Given the description of an element on the screen output the (x, y) to click on. 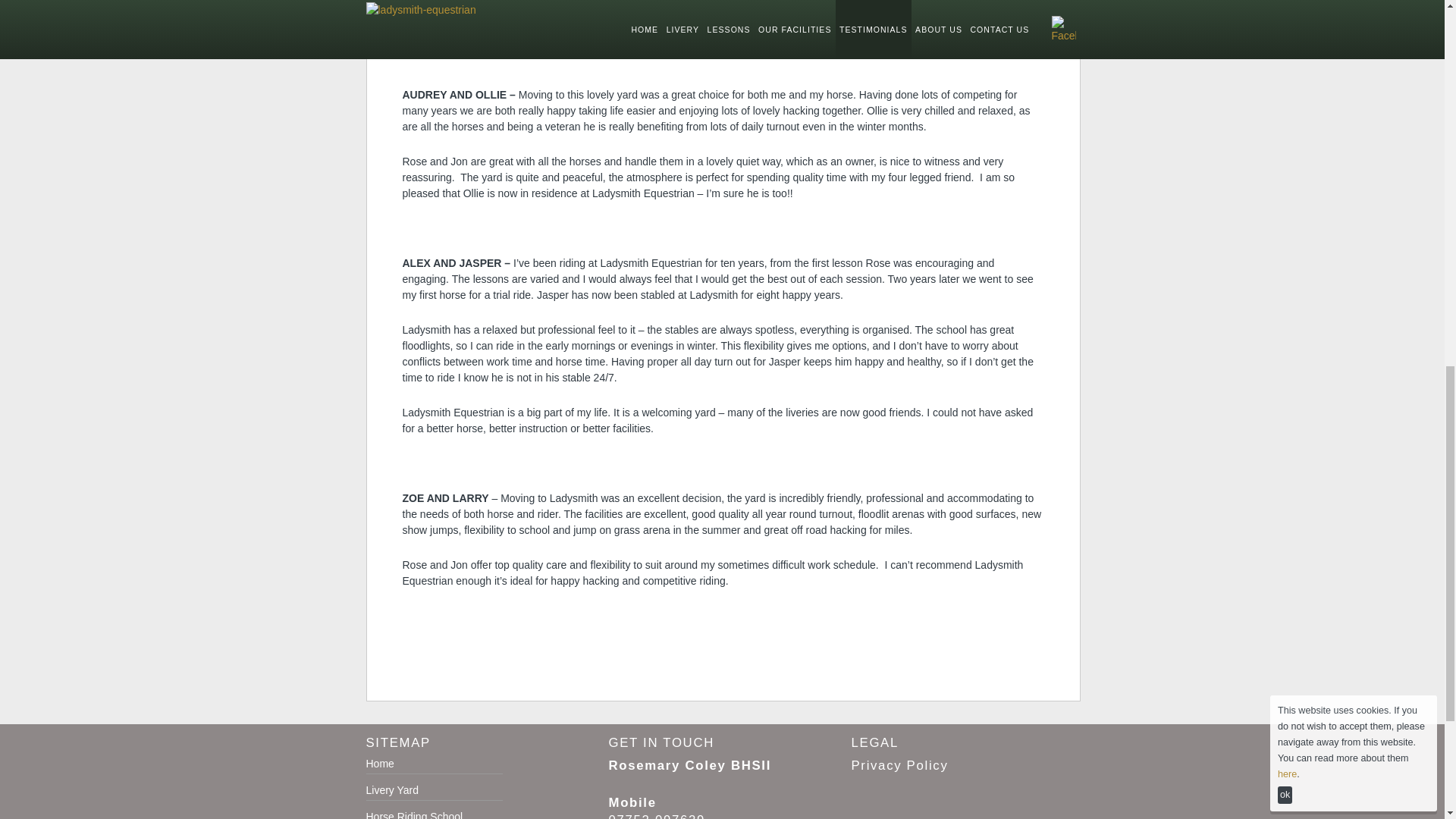
07752 097629 (656, 816)
Livery Yard (392, 789)
Home (379, 763)
Horse Riding School (414, 814)
Privacy Policy (898, 765)
